Given the description of an element on the screen output the (x, y) to click on. 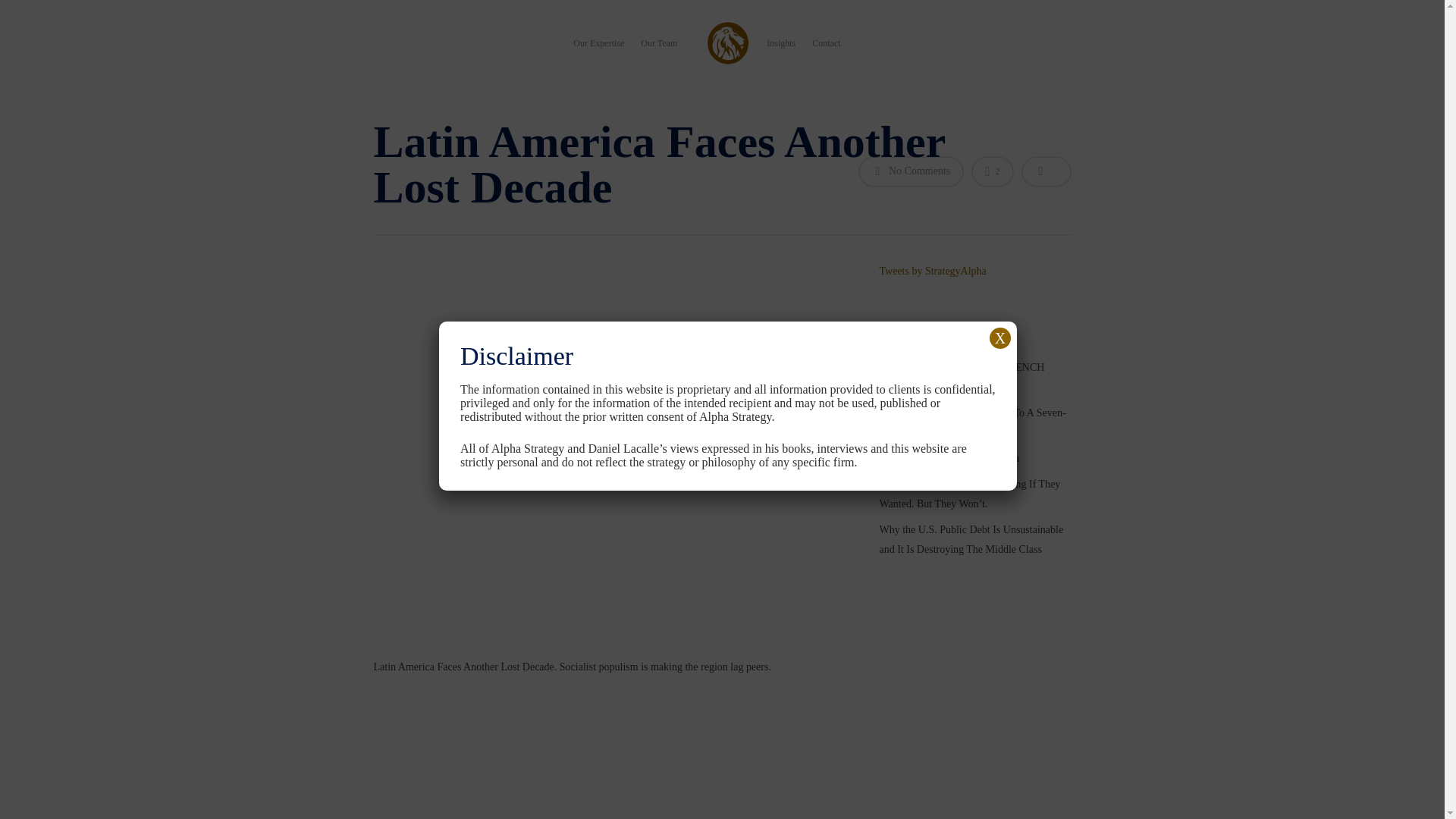
2 (992, 171)
Why Consumer Sentiment Fell To A Seven-Month Low (974, 423)
The Fed Fears a Bond Meltdown (974, 458)
Tweets by StrategyAlpha (932, 270)
Our Team (658, 43)
Our Expertise (598, 43)
THE END OF THE EURO? FRENCH ELECTIONS AND MARKETS (974, 377)
No Comments (911, 171)
Love this (992, 171)
Contact (826, 43)
Insights (780, 43)
